Given the description of an element on the screen output the (x, y) to click on. 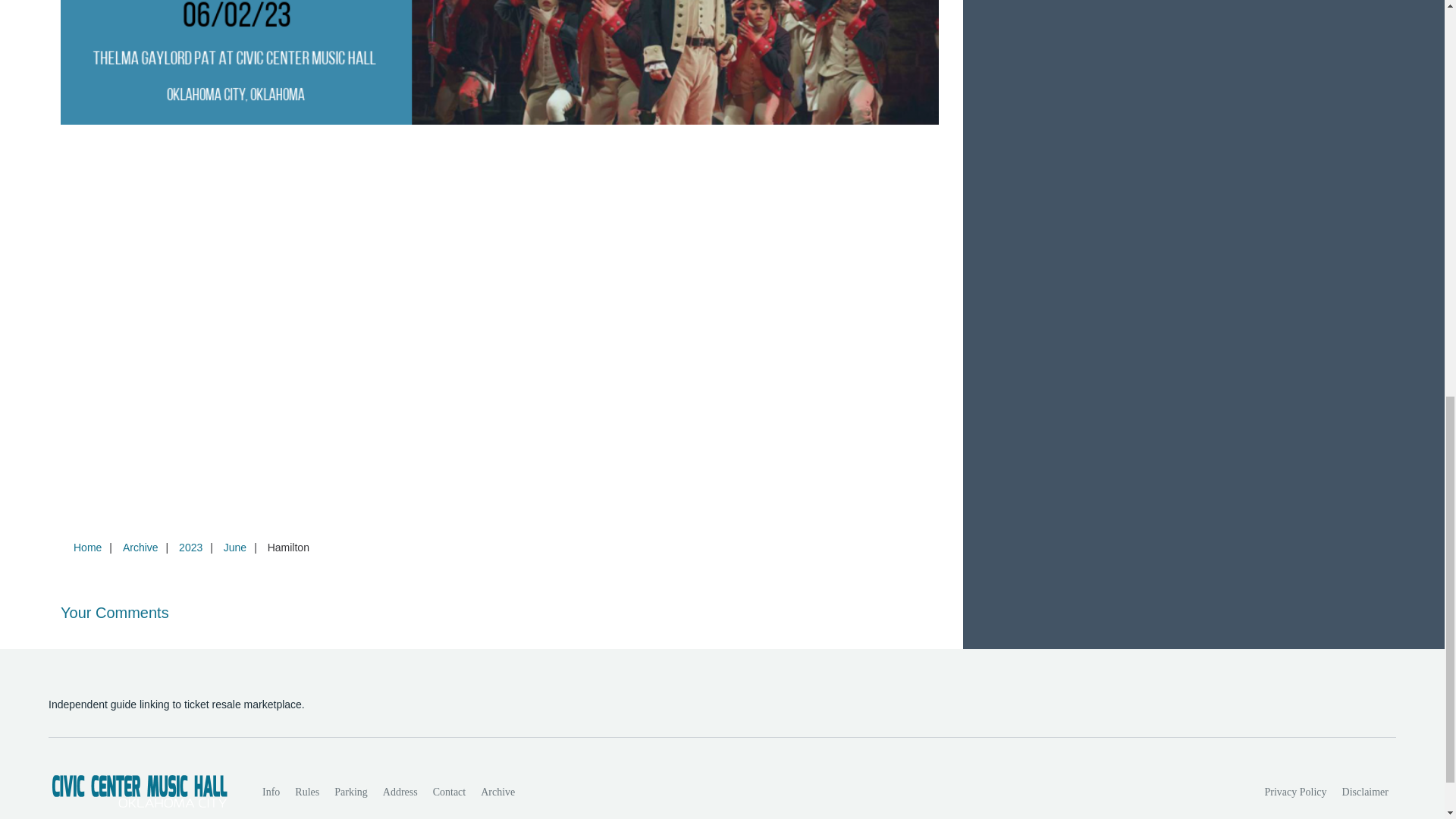
Archive (140, 547)
Contact (449, 792)
Privacy Policy (1296, 792)
Home (87, 547)
Info (270, 792)
Address (400, 792)
June (234, 547)
VIEW ALL EVENTS (1203, 2)
Archive (497, 792)
Rules (306, 792)
